Given the description of an element on the screen output the (x, y) to click on. 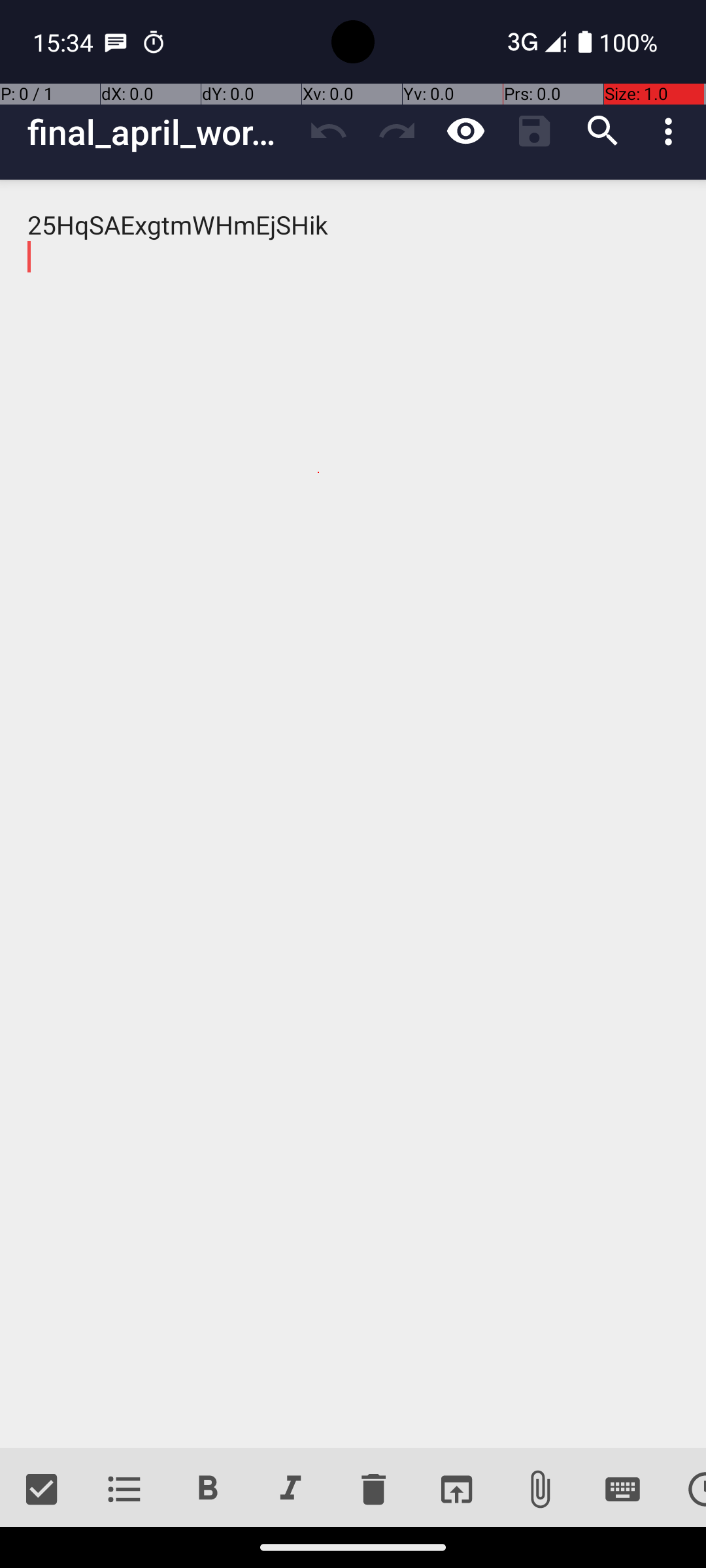
final_april_workout_routine Element type: android.widget.TextView (160, 131)
25HqSAExgtmWHmEjSHik
 Element type: android.widget.EditText (353, 813)
